Given the description of an element on the screen output the (x, y) to click on. 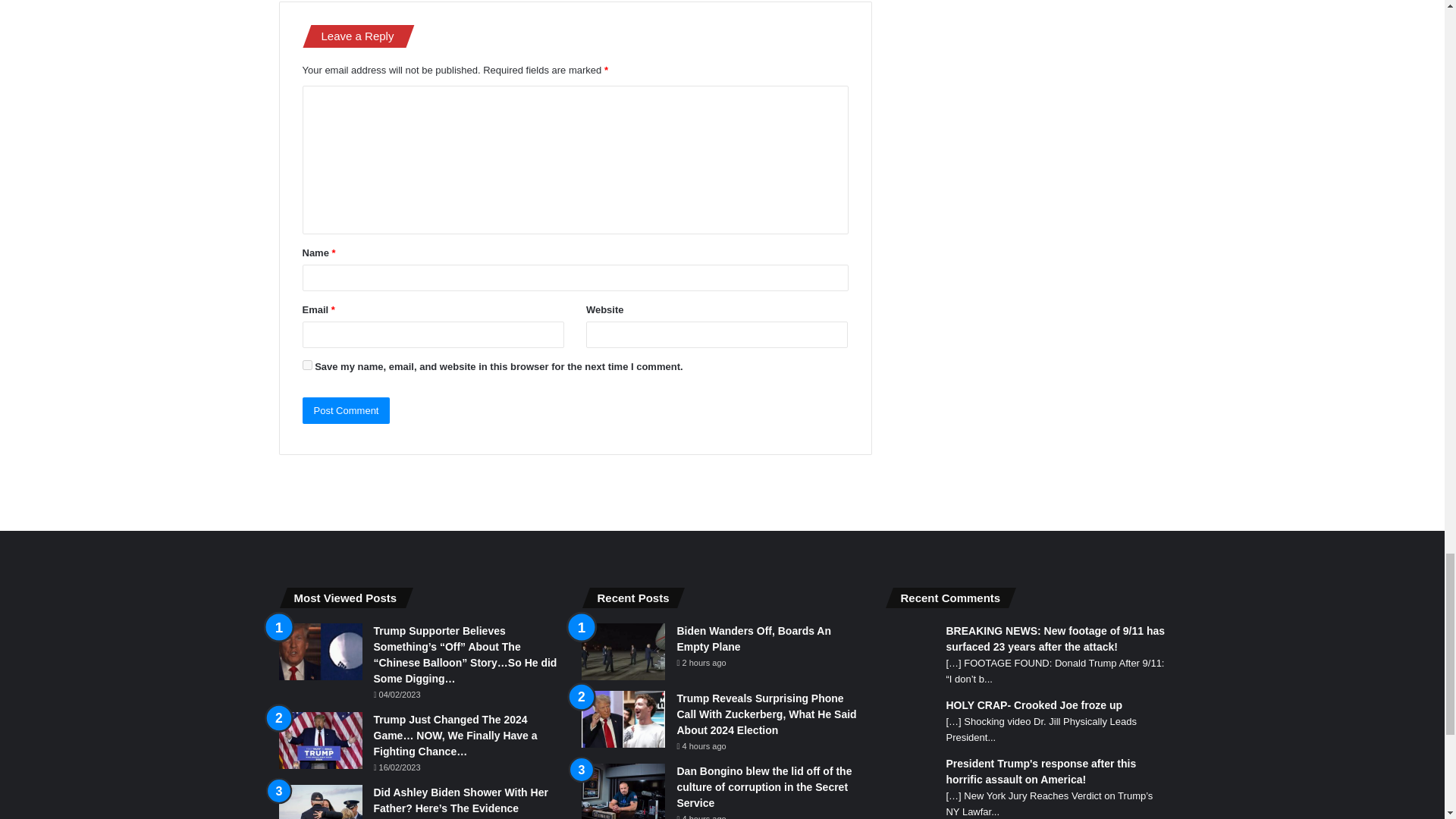
Post Comment (345, 410)
yes (306, 365)
